Given the description of an element on the screen output the (x, y) to click on. 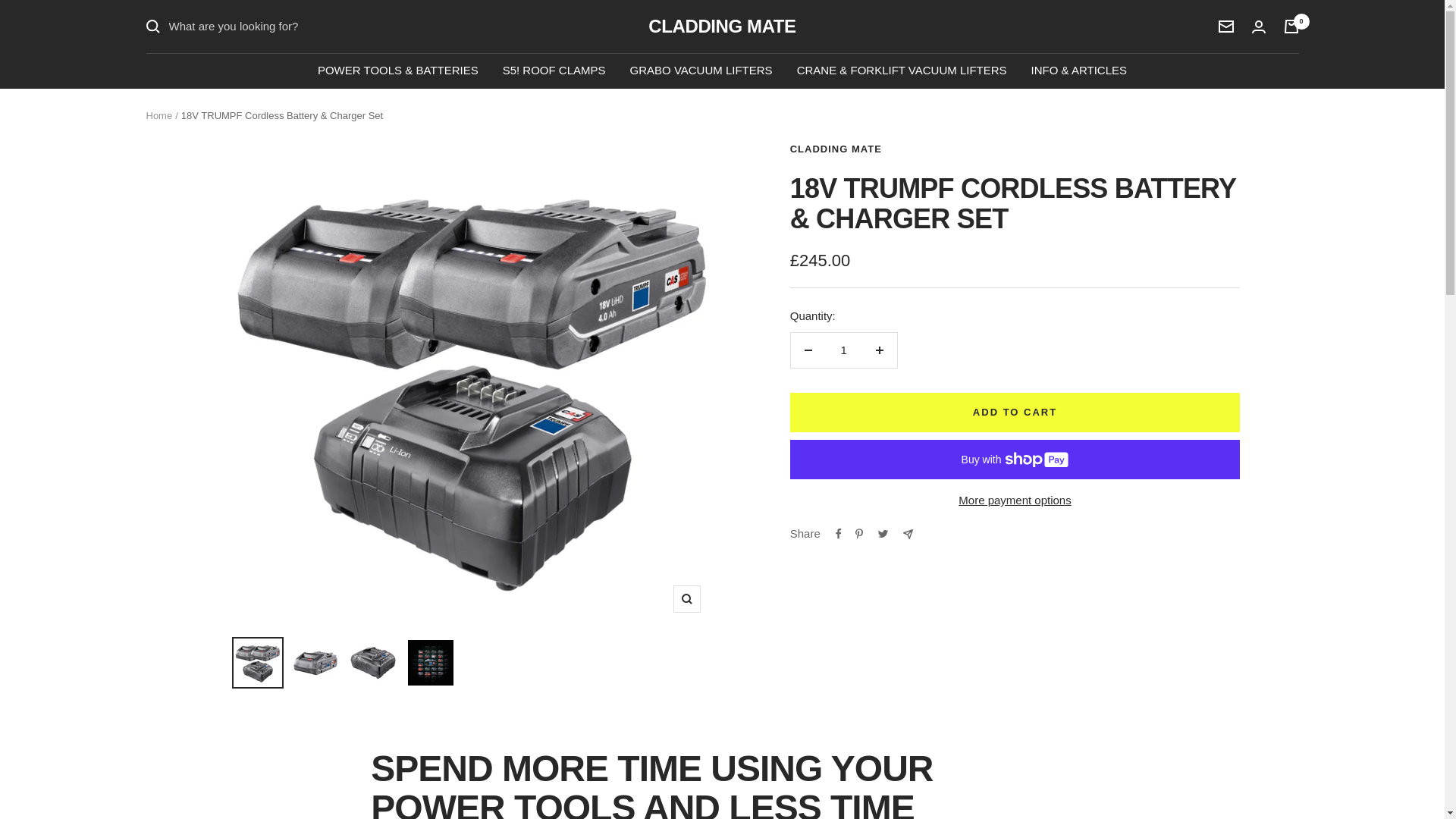
More payment options (1015, 500)
CLADDING MATE (836, 148)
1 (843, 349)
ADD TO CART (1015, 412)
Home (158, 115)
0 (1290, 26)
Increase quantity (878, 349)
CLADDING MATE (720, 25)
Newsletter (1225, 26)
GRABO VACUUM LIFTERS (701, 70)
